Given the description of an element on the screen output the (x, y) to click on. 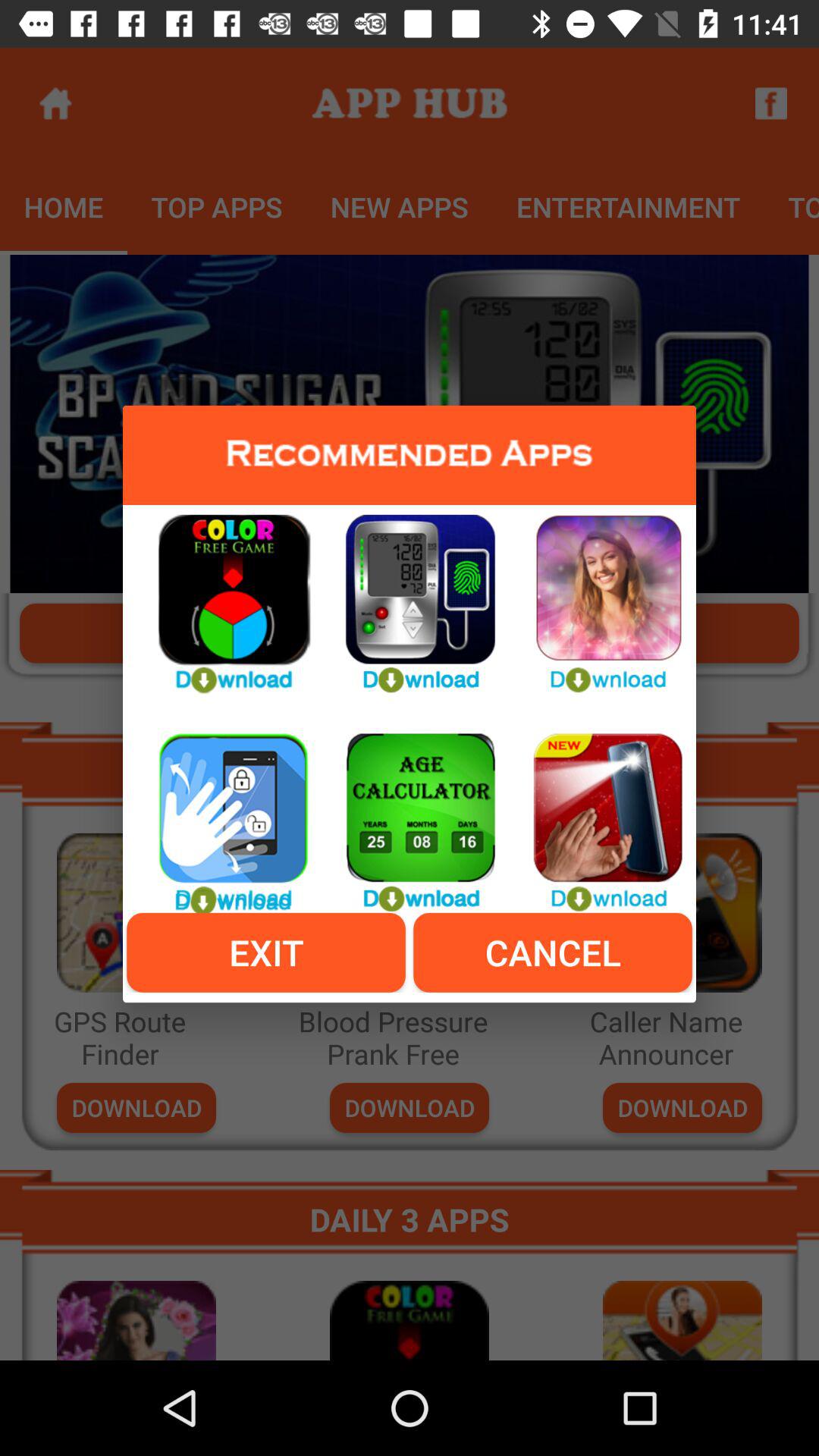
age calculator app (409, 813)
